Given the description of an element on the screen output the (x, y) to click on. 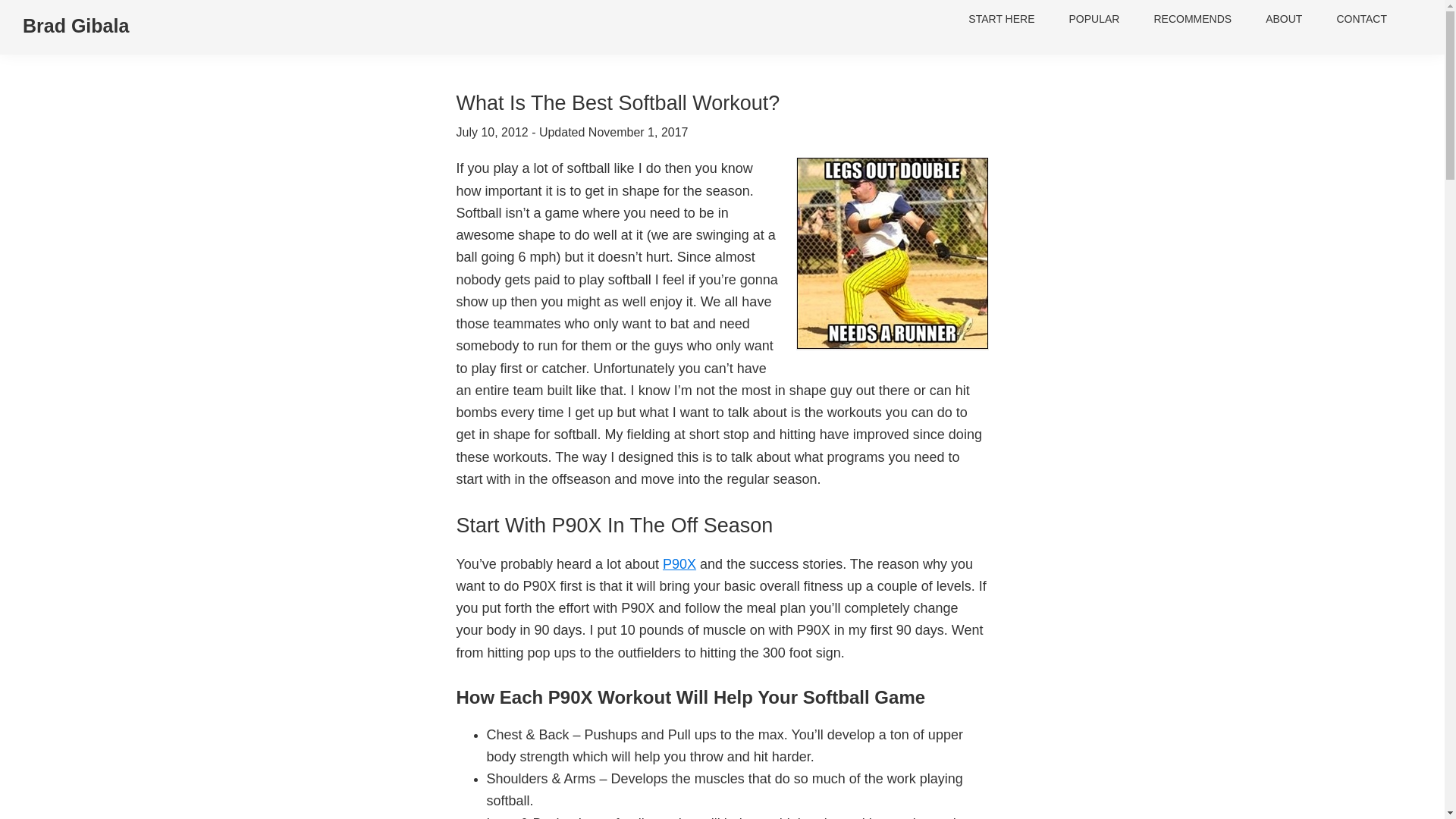
ABOUT (1283, 24)
P90X (678, 563)
Brad Gibala (76, 25)
START HERE (1001, 24)
Best Softball Workout (892, 254)
POPULAR (1094, 24)
CONTACT (1361, 24)
RECOMMENDS (1192, 24)
P90X (678, 563)
